Given the description of an element on the screen output the (x, y) to click on. 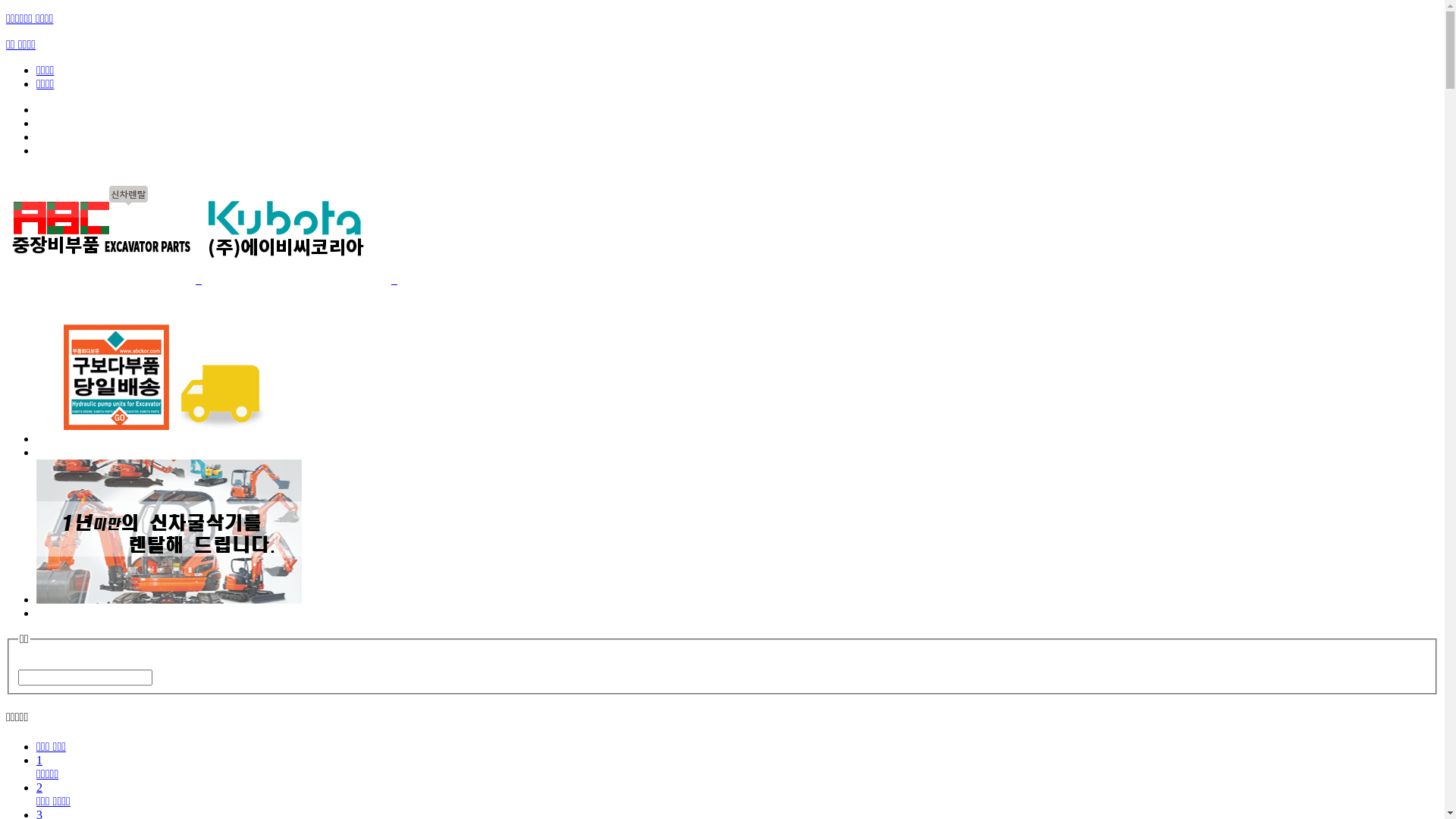
    Element type: text (201, 279)
